Given the description of an element on the screen output the (x, y) to click on. 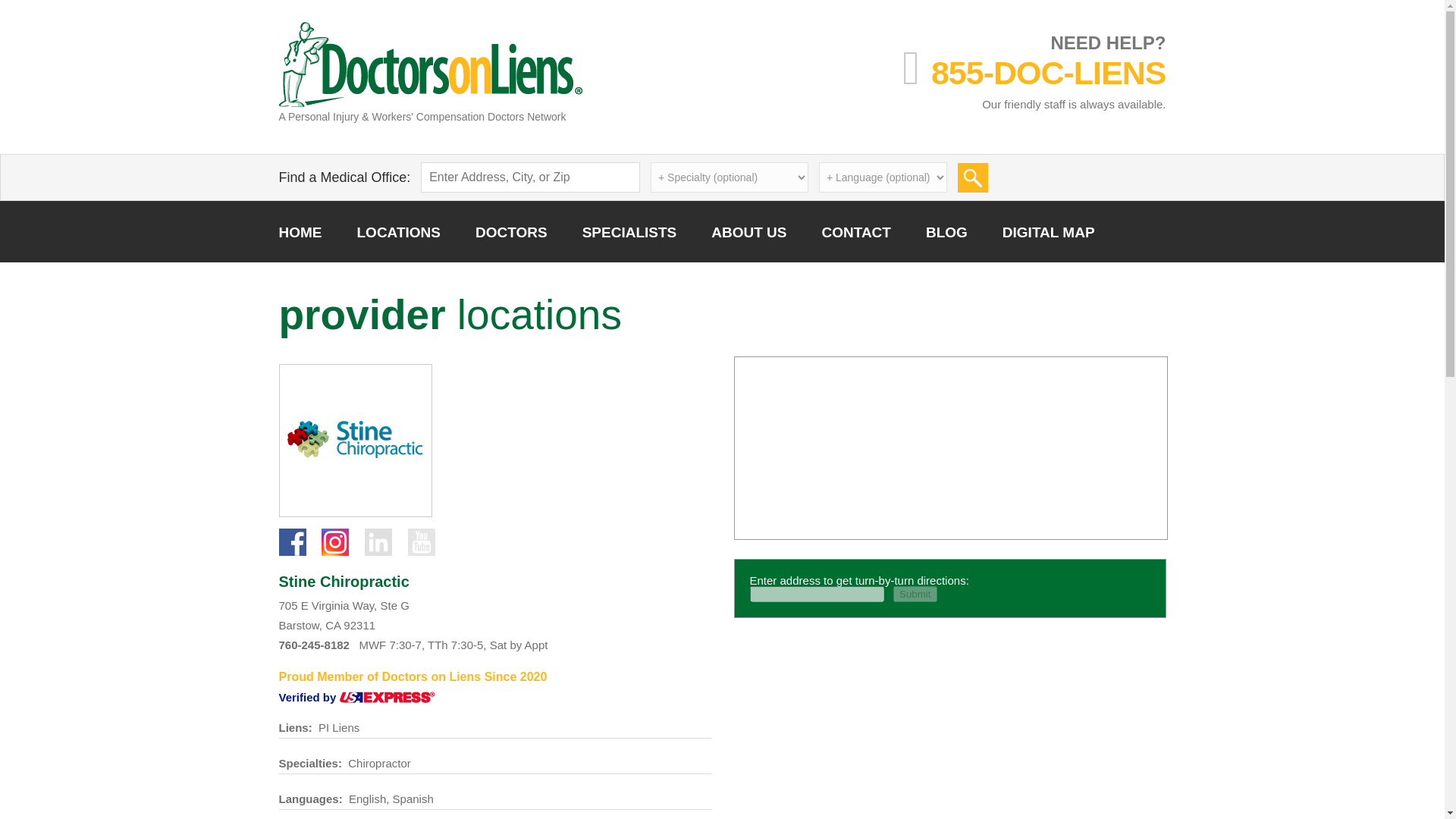
CONTACT (855, 231)
DIGITAL MAP (1048, 231)
Facebook (292, 542)
ABOUT US (748, 231)
Submit (914, 593)
LOCATIONS (397, 231)
BLOG (947, 231)
Instagram (335, 542)
760-245-8182 (313, 644)
DOCTORS (511, 231)
SPECIALISTS (629, 231)
Submit (914, 593)
Submit (973, 177)
855-DOC-LIENS (1048, 72)
HOME (300, 231)
